Given the description of an element on the screen output the (x, y) to click on. 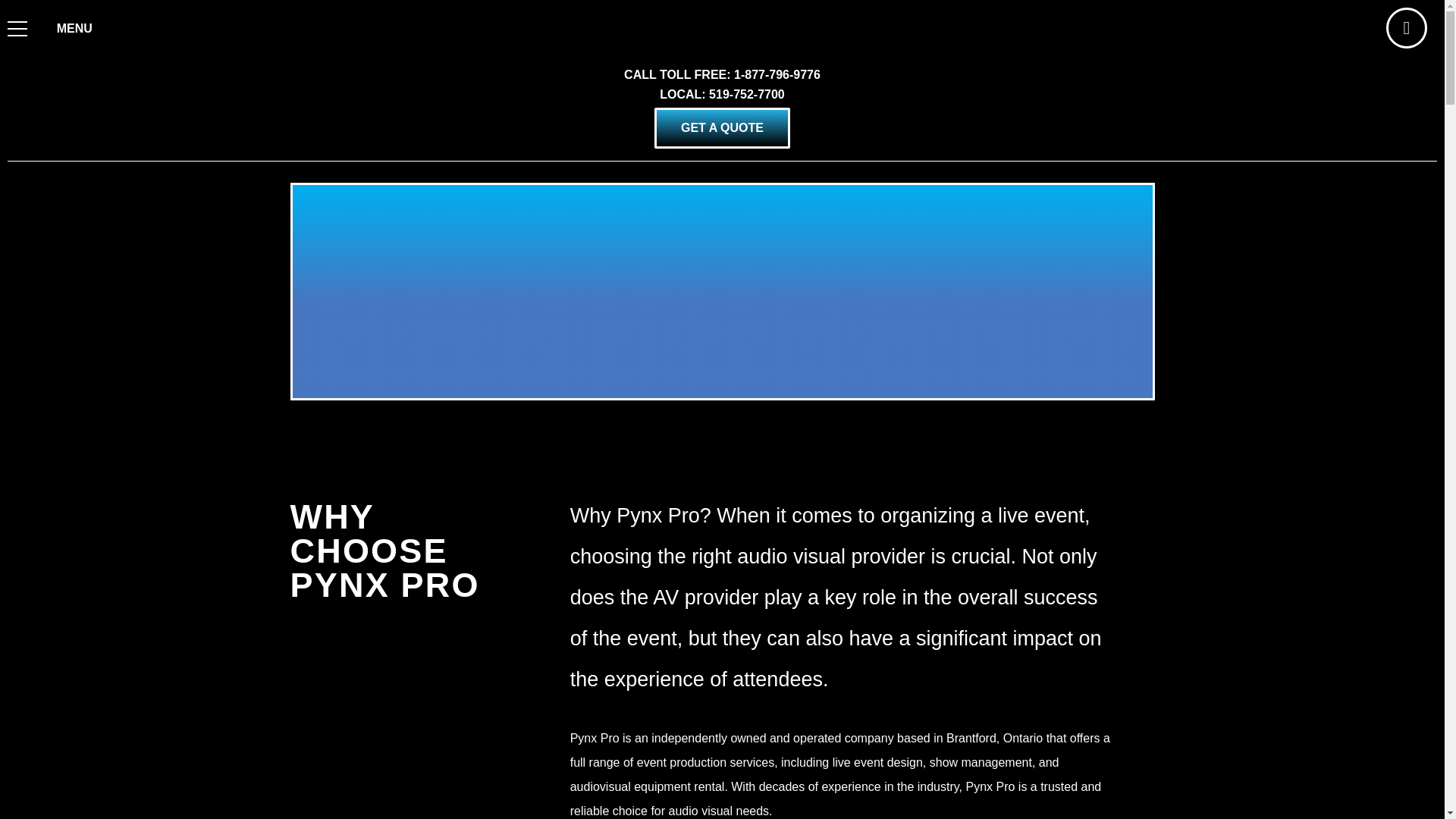
519-752-7700 (746, 93)
GET A QUOTE (721, 127)
1-877-796-9776 (777, 74)
